Given the description of an element on the screen output the (x, y) to click on. 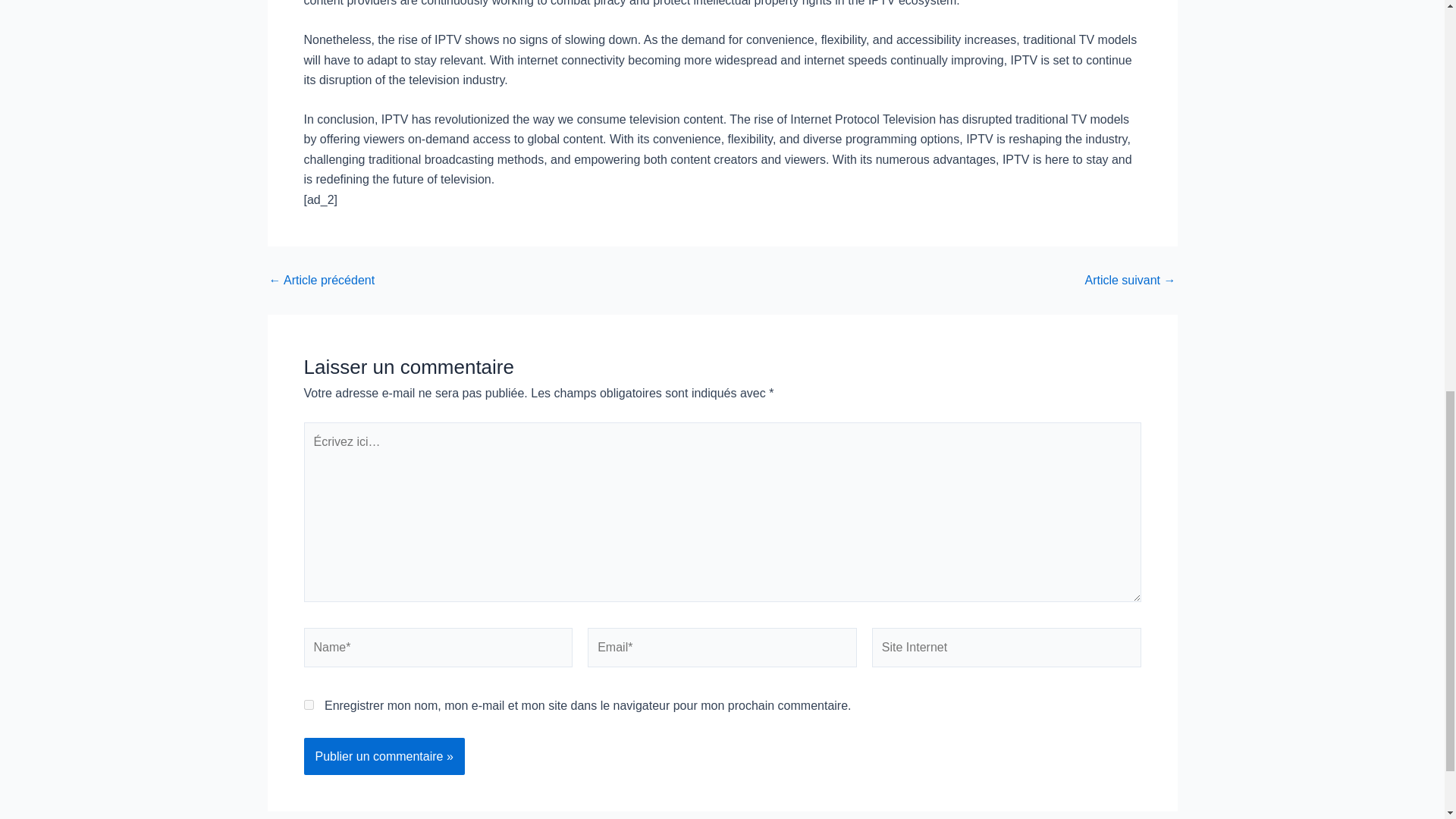
yes (307, 705)
